Given the description of an element on the screen output the (x, y) to click on. 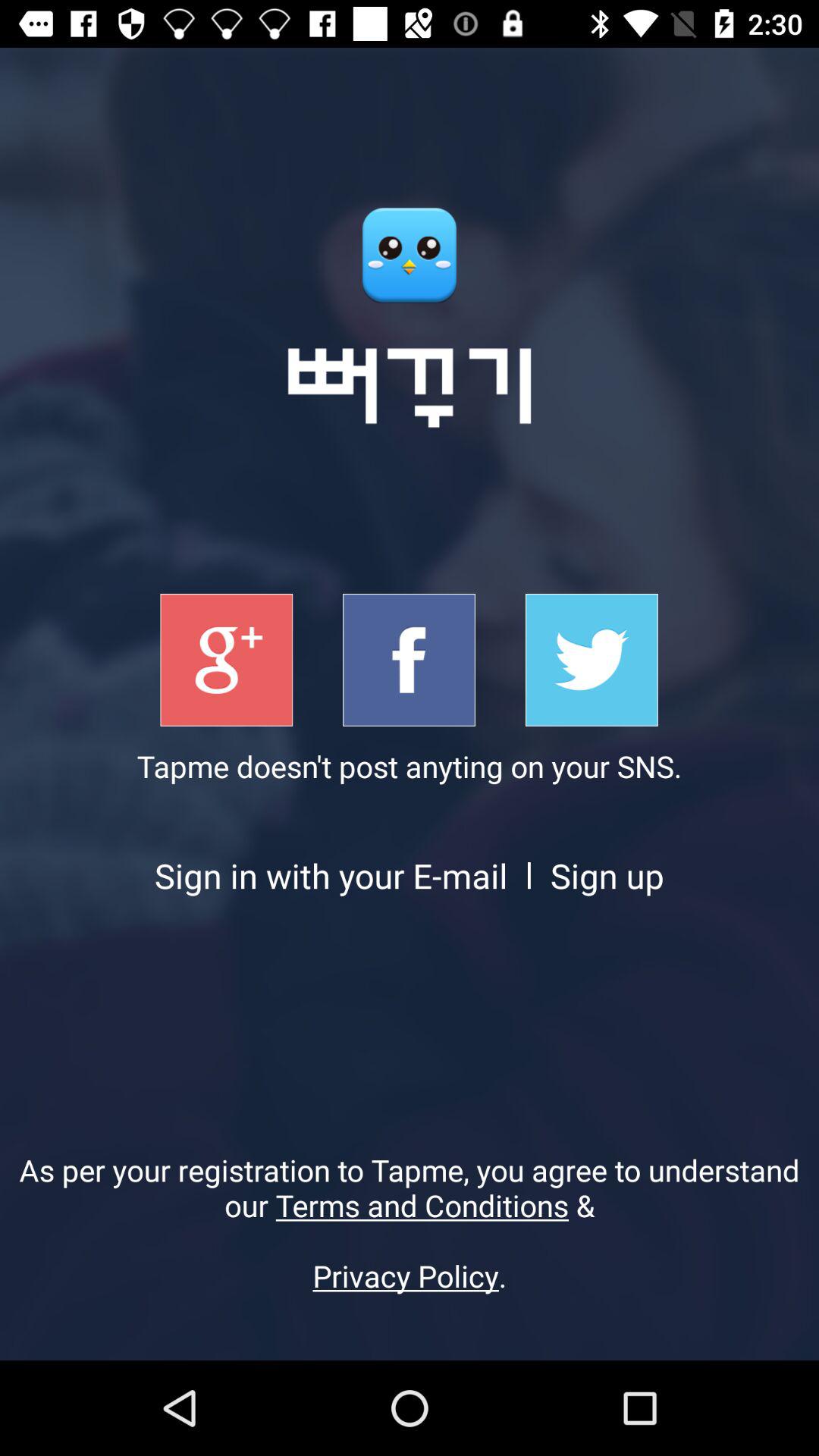
sign in with google+ (226, 659)
